Given the description of an element on the screen output the (x, y) to click on. 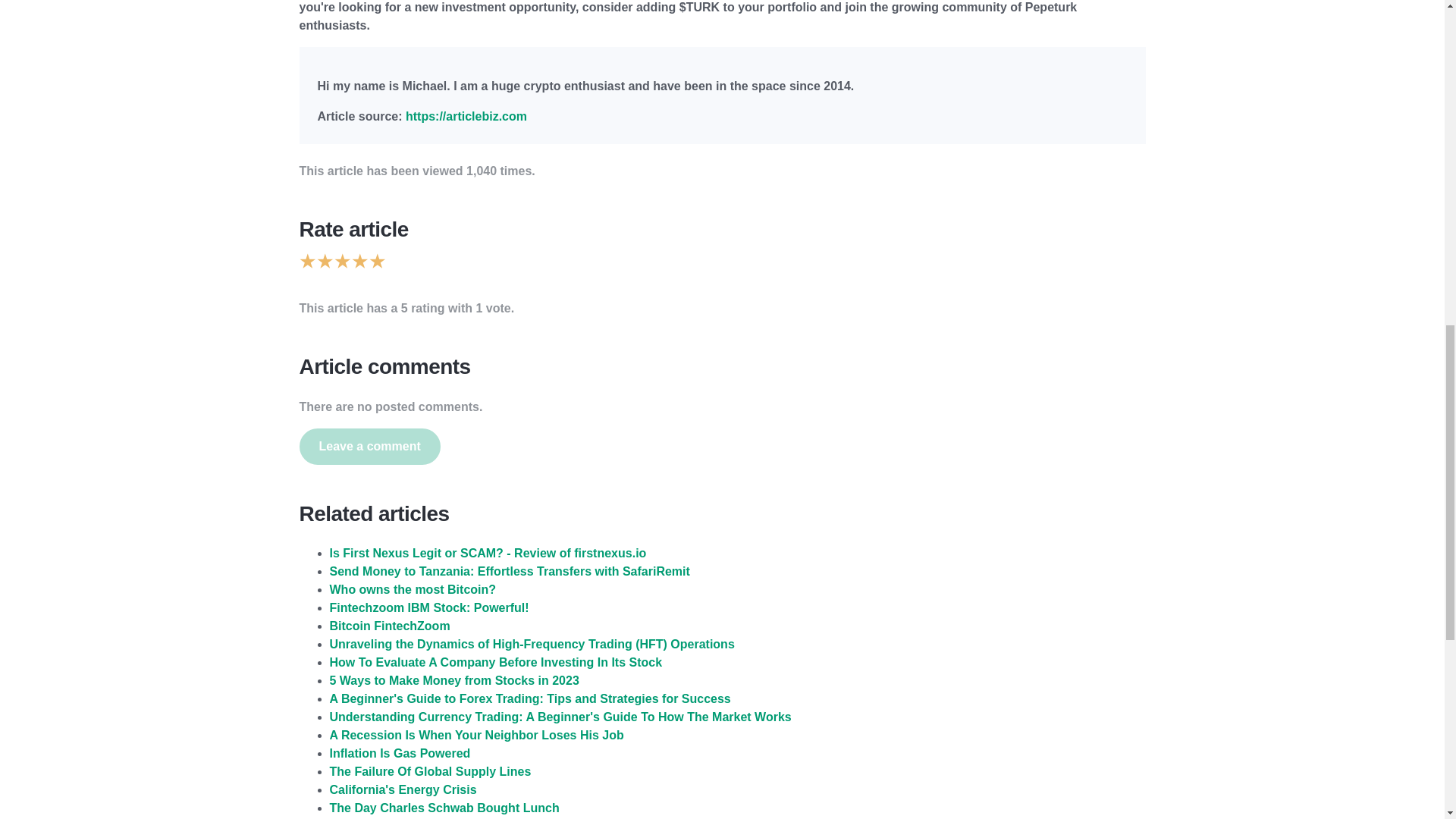
Leave a comment (368, 446)
How To Evaluate A Company Before Investing In Its Stock (495, 662)
Bitcoin FintechZoom (389, 625)
A Recession Is When Your Neighbor Loses His Job (476, 735)
Inflation Is Gas Powered (399, 753)
Fintechzoom IBM Stock: Powerful! (428, 607)
Who owns the most Bitcoin? (412, 589)
